Given the description of an element on the screen output the (x, y) to click on. 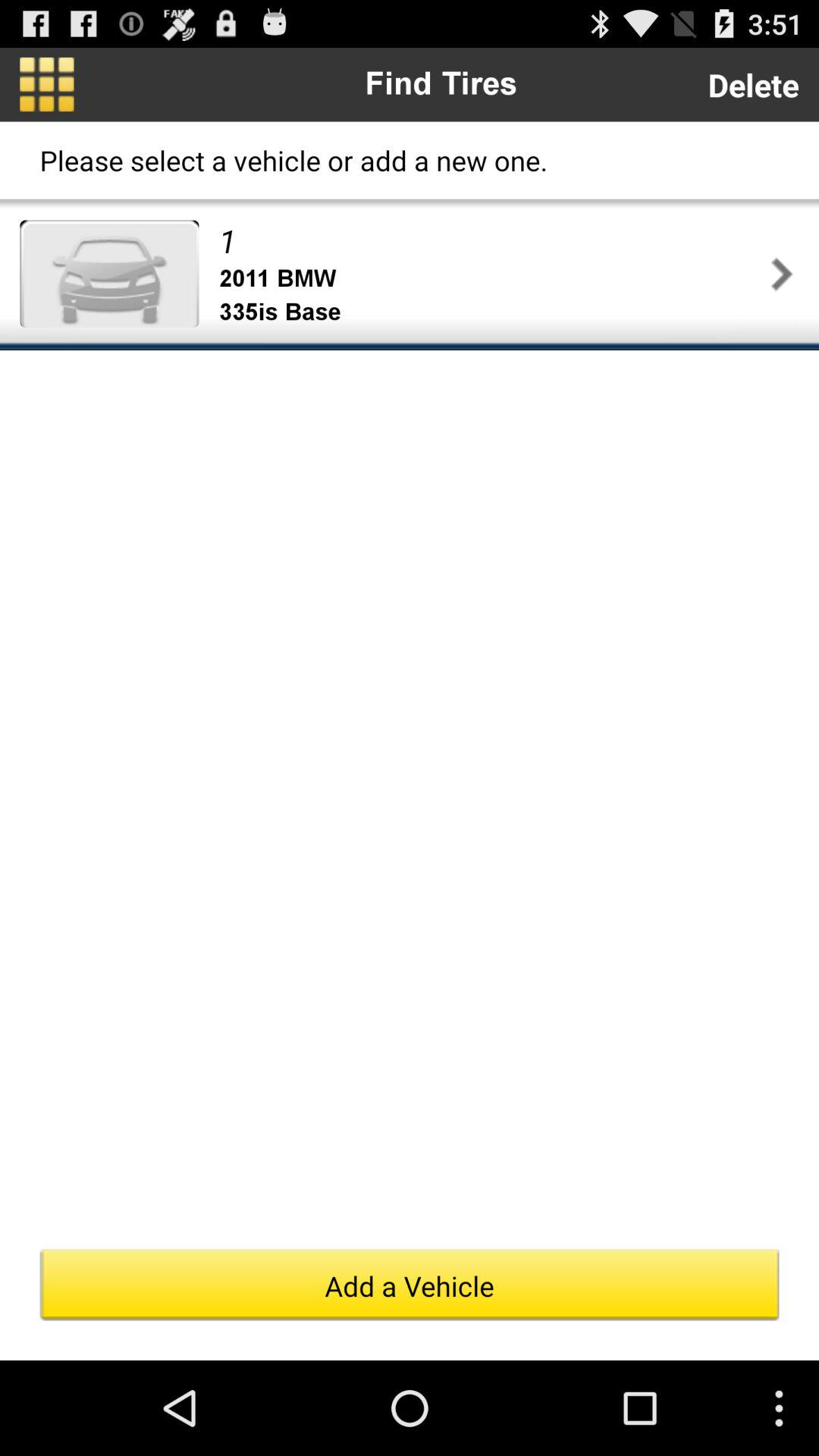
turn on item below the please select a (491, 240)
